Given the description of an element on the screen output the (x, y) to click on. 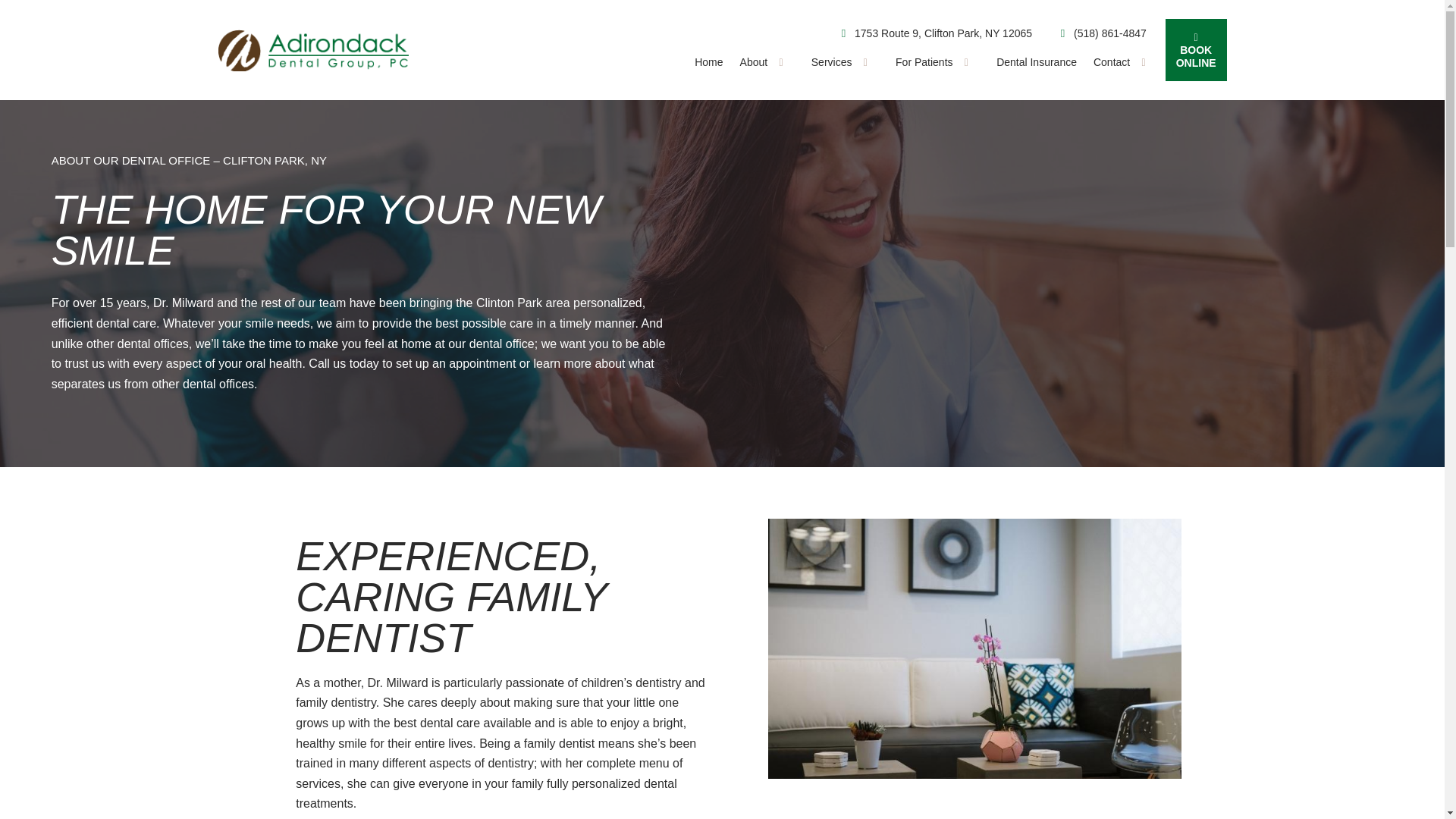
Dental Services (844, 62)
Dentist Clifton Park, NY (708, 62)
About (767, 62)
Home (708, 62)
1753 Route 9, Clifton Park, NY 12065 (933, 33)
Services (844, 62)
Dental Insurance (1036, 62)
Contact (1125, 62)
About Us (767, 62)
For Patients (937, 62)
